Given the description of an element on the screen output the (x, y) to click on. 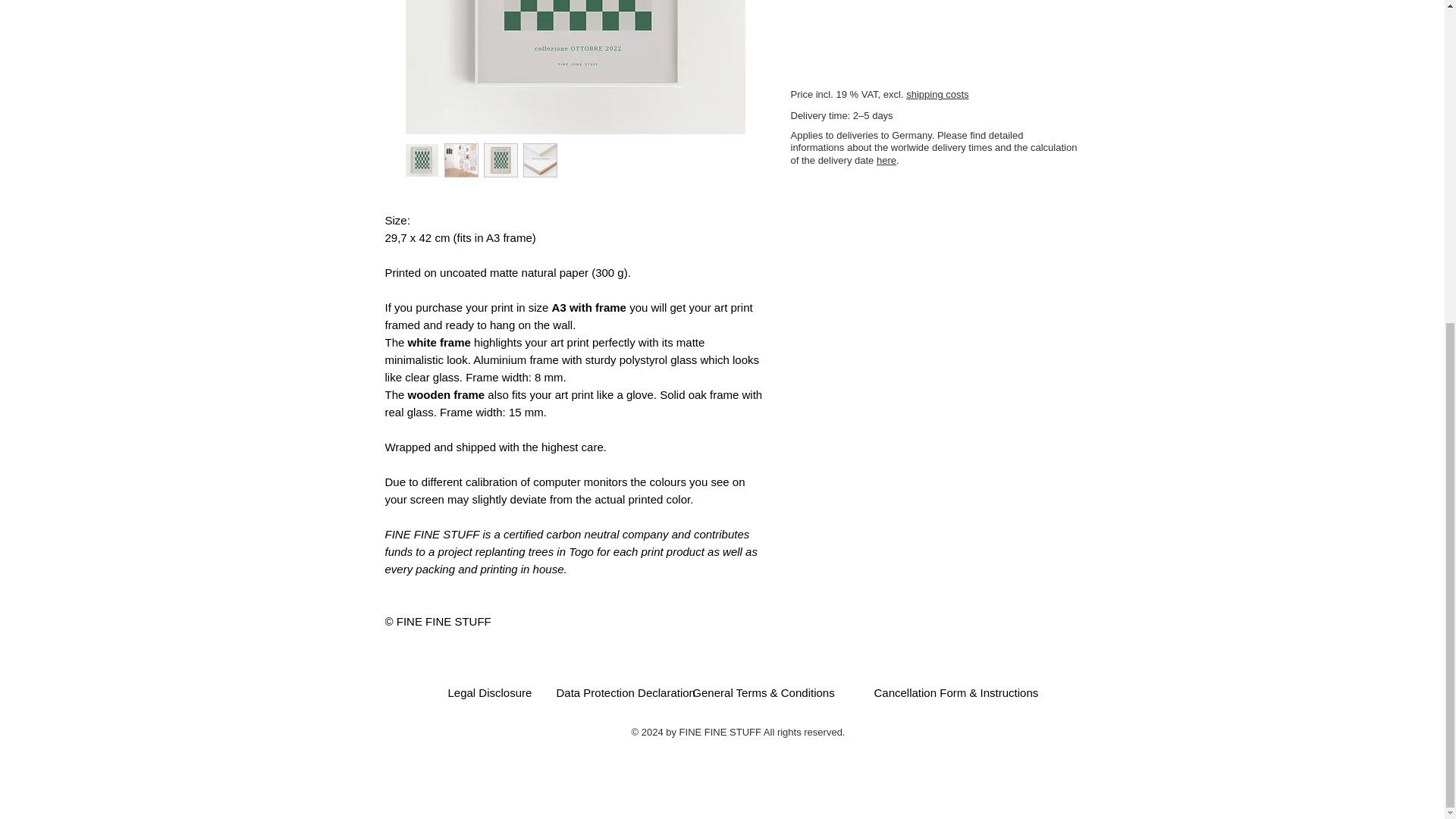
Legal Disclosure (496, 692)
here (886, 160)
Data Protection Declaration (625, 692)
shipping costs (936, 93)
